Given the description of an element on the screen output the (x, y) to click on. 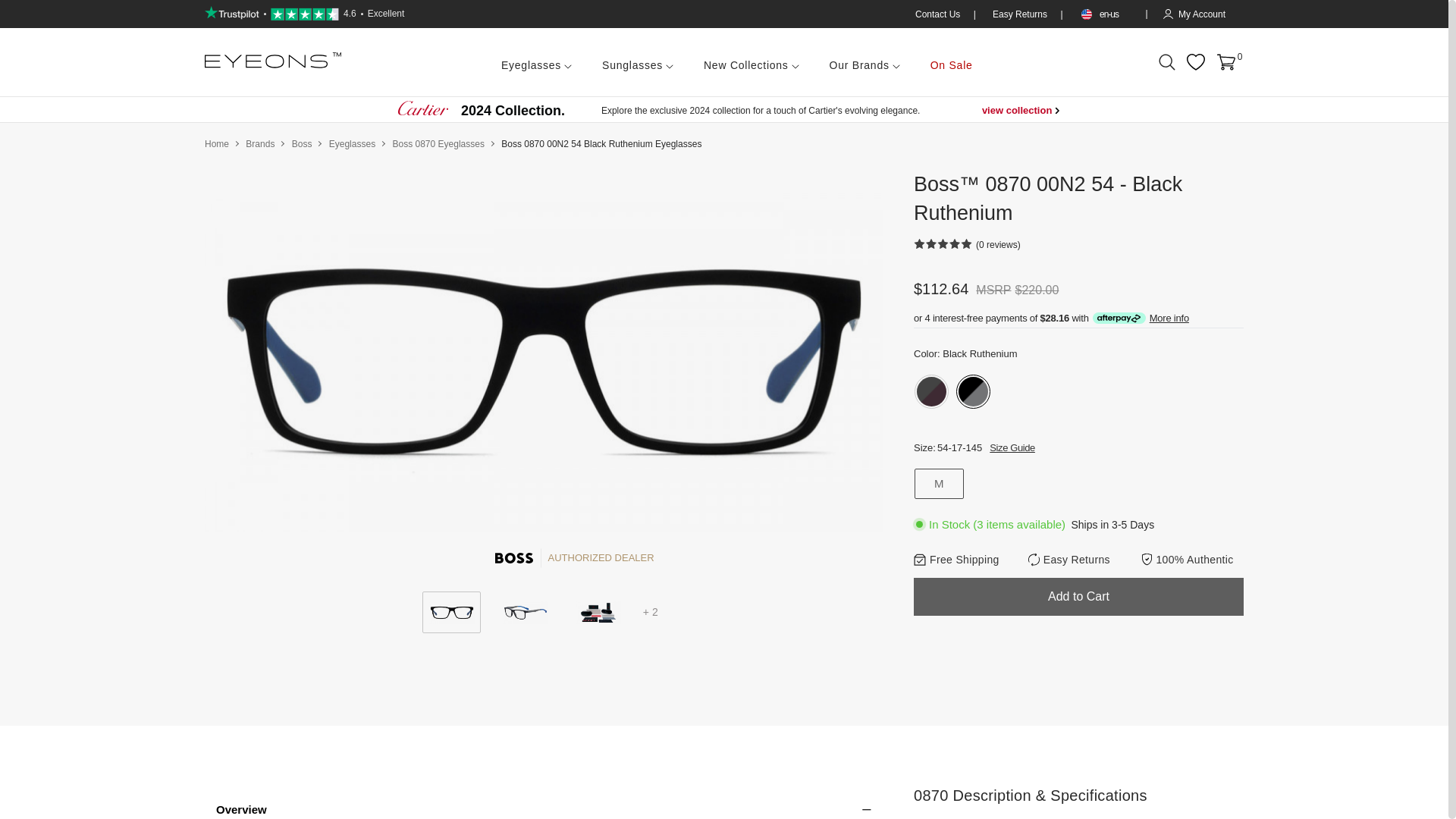
Eyeglasses (352, 143)
Easy Returns (1020, 14)
Boss 0870 Eyeglasses (437, 143)
Our Brands (864, 61)
Sunglasses (637, 61)
New Collections (751, 61)
AUTHORIZED DEALER (544, 558)
Boss (302, 143)
Contact Us (938, 14)
Add to Cart (1078, 596)
Boss Authorized Dealer (514, 557)
Home (216, 143)
Eyeglasses (536, 61)
en-us (1103, 13)
